Given the description of an element on the screen output the (x, y) to click on. 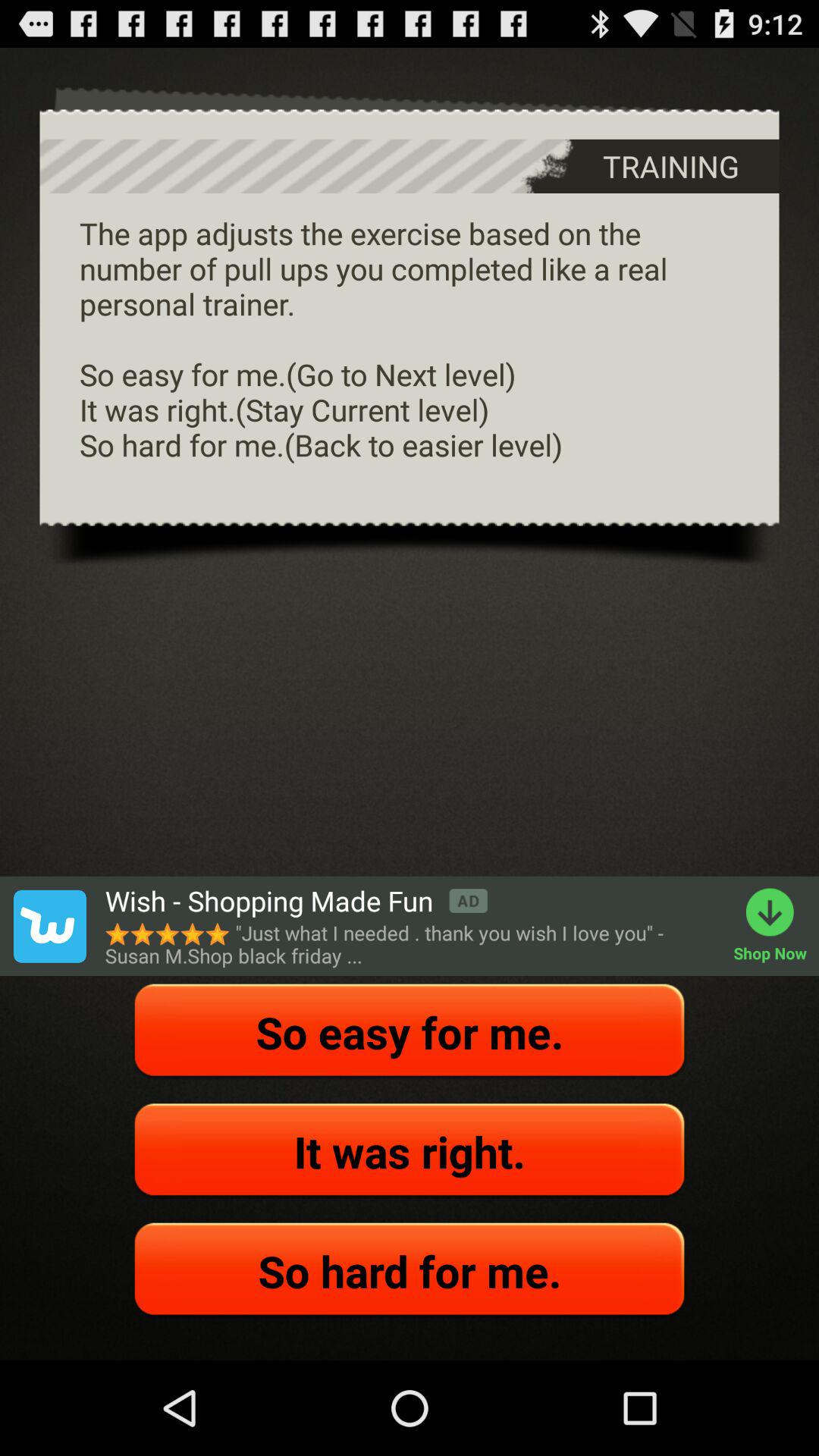
click the app below wish shopping made (411, 944)
